Given the description of an element on the screen output the (x, y) to click on. 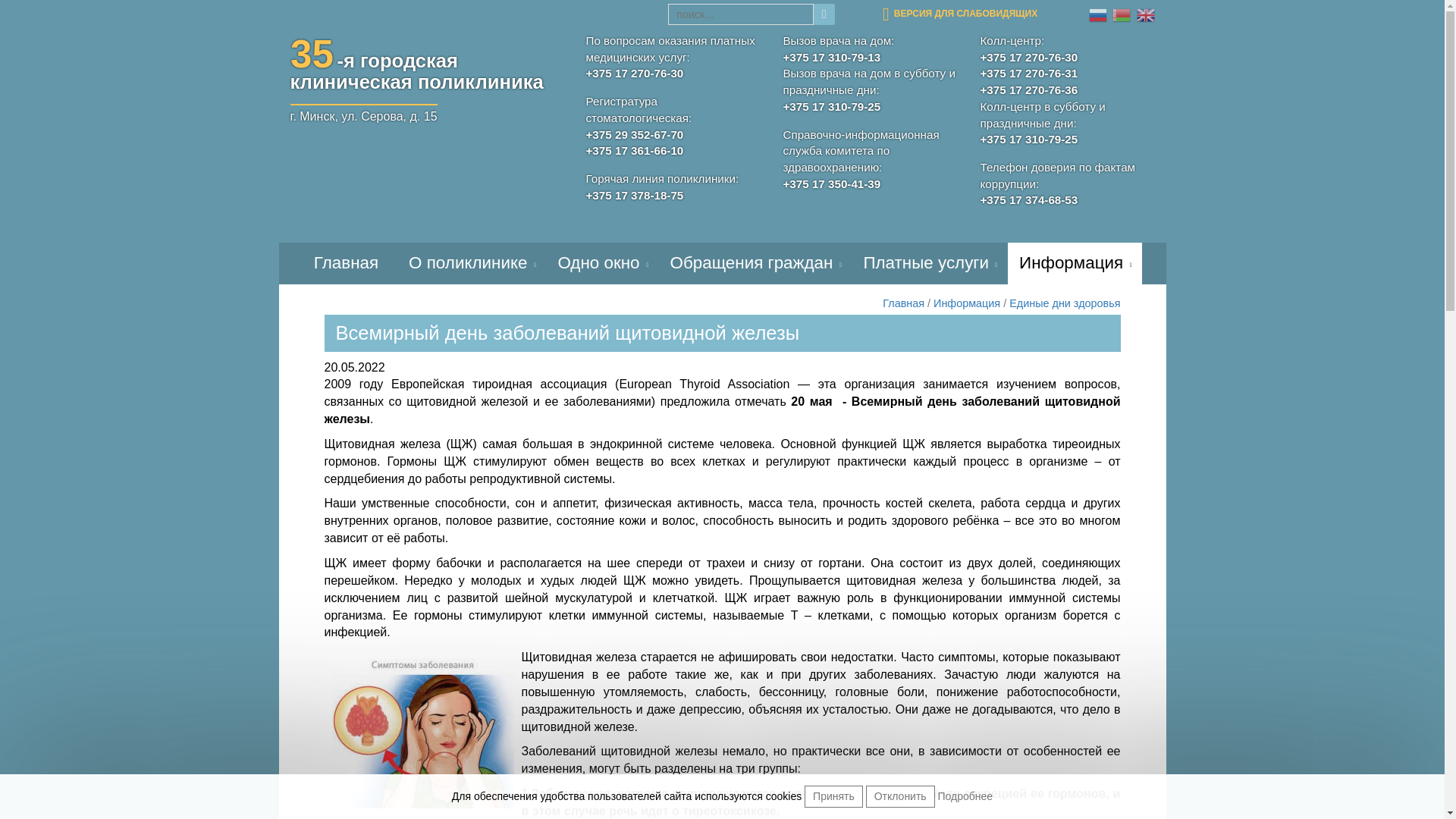
+375 17 270-76-31 Element type: text (1066, 73)
+375 17 270-76-30 Element type: text (1066, 57)
+375 17 310-79-13 Element type: text (869, 57)
+375 17 361-66-10 Element type: text (672, 150)
+375 29 352-67-70 Element type: text (672, 134)
+375 17 378-18-75 Element type: text (672, 195)
+375 17 350-41-39 Element type: text (869, 183)
+375 17 270-76-36 Element type: text (1066, 89)
+375 17 270-76-30 Element type: text (672, 73)
+375 17 310-79-25 Element type: text (869, 106)
+375 17 310-79-25 Element type: text (1066, 139)
+375 17 374-68-53 Element type: text (1066, 199)
